Given the description of an element on the screen output the (x, y) to click on. 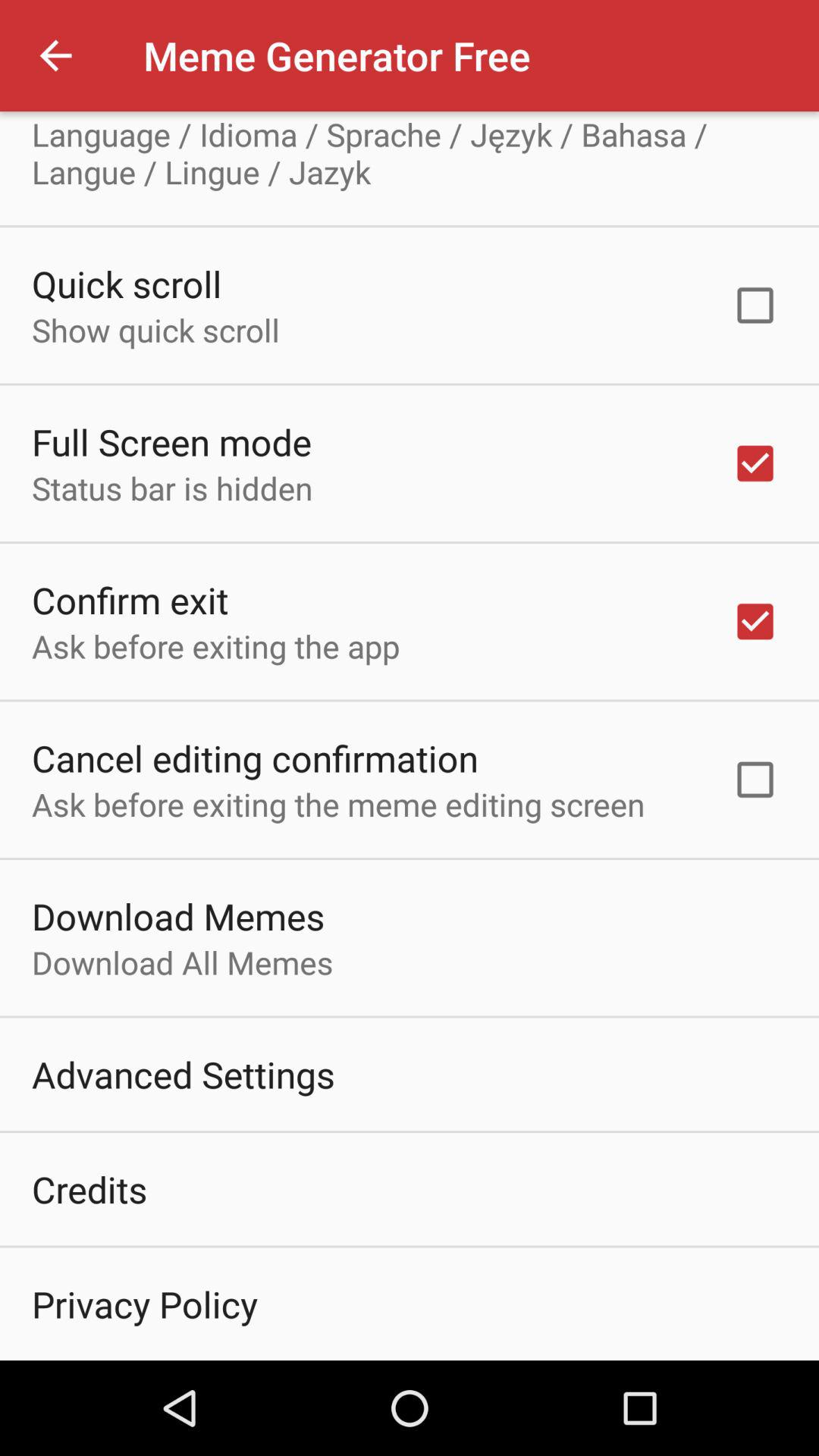
open the item below ask before exiting item (254, 757)
